Given the description of an element on the screen output the (x, y) to click on. 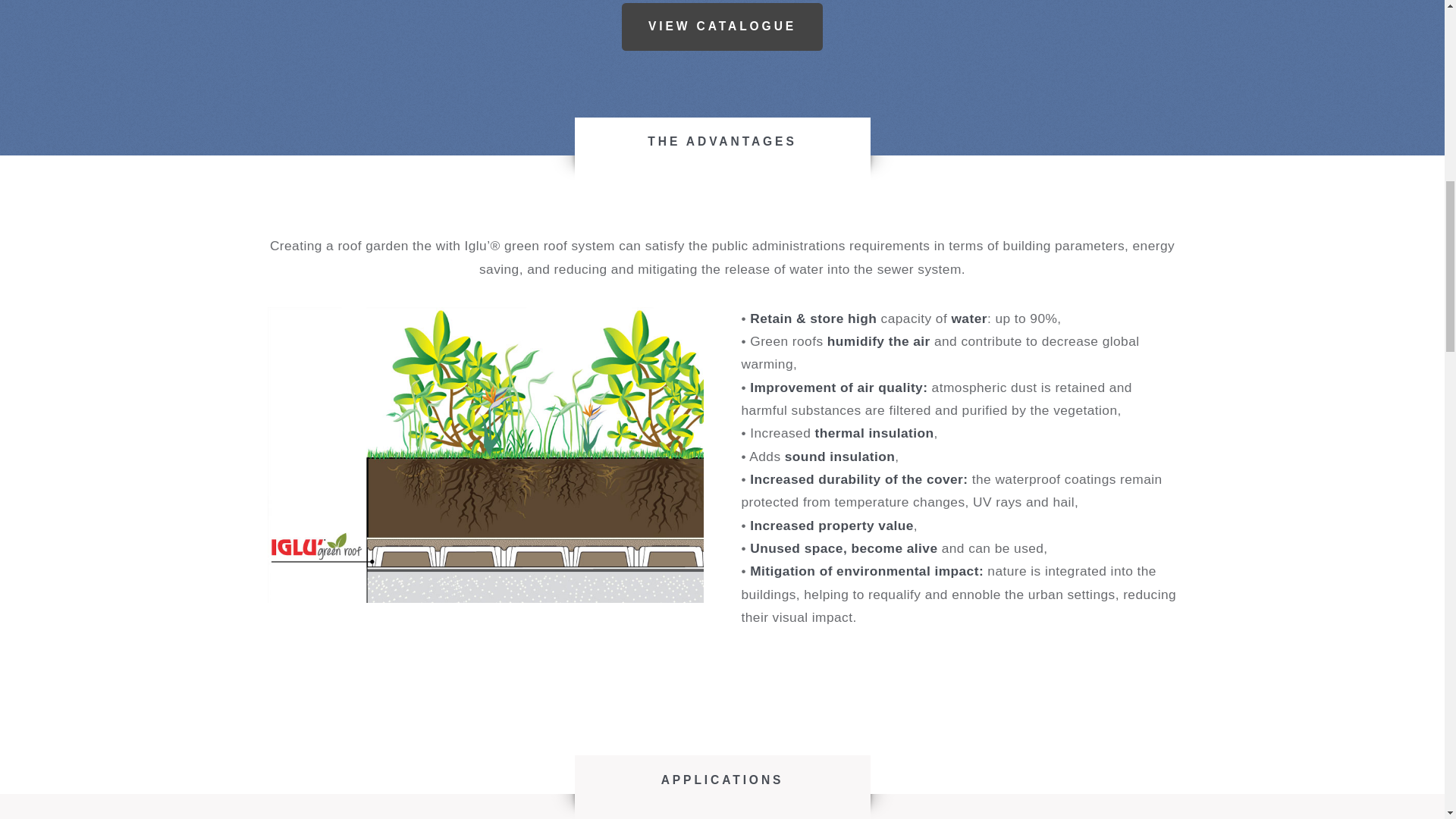
VIEW CATALOGUE (721, 26)
